Given the description of an element on the screen output the (x, y) to click on. 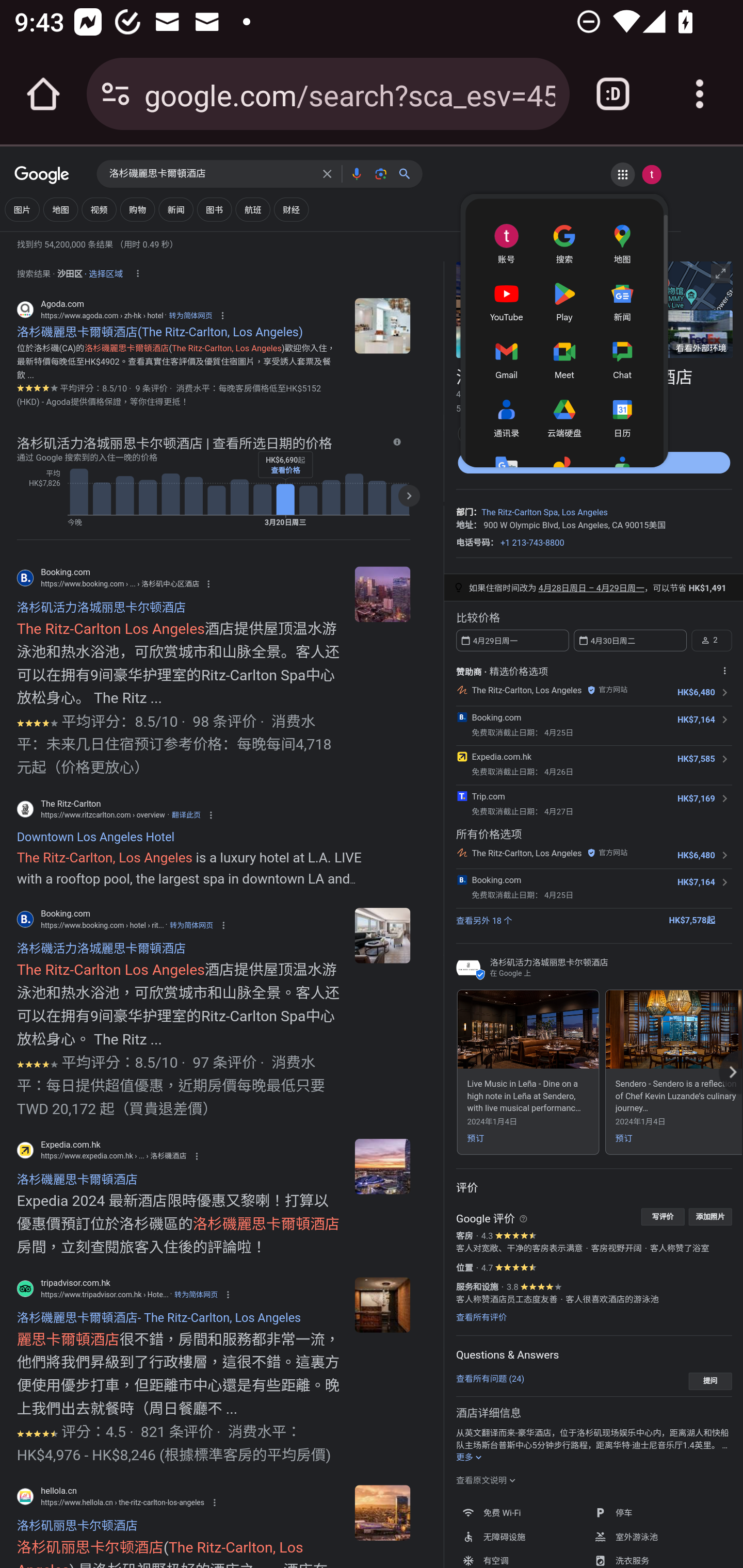
Open the home page (43, 93)
Connection is secure (115, 93)
Switch or close tabs (612, 93)
Customize and control Google Chrome (699, 93)
清除 (326, 172)
按语音搜索 (356, 172)
按图搜索 (380, 172)
搜索 (408, 172)
Google 应用 (622, 174)
Google 账号： test appium (testappium002@gmail.com) (650, 174)
Google (41, 176)
洛杉磯麗思卡爾頓酒店 (210, 173)
图片 (21, 209)
地图 (60, 209)
视频 (98, 209)
购物 (137, 209)
新闻 (175, 209)
图书 (213, 209)
航班 (253, 209)
财经 (291, 209)
账号 (505, 242)
搜索 (563, 242)
地图 (621, 242)
选择区域 (105, 270)
位置信息使用方式 (136, 273)
YouTube (505, 299)
Play (563, 299)
新闻 (621, 299)
los-angeles-ca-us (382, 324)
转为简体网页 (190, 314)
Gmail (505, 358)
Meet (563, 358)
Chat (621, 358)
通讯录 (505, 416)
云端硬盘 (563, 416)
日历 (621, 416)
了解详情 (396, 441)
查询空房情况 (593, 462)
查看价格 (284, 470)
The Ritz-Carlton Spa, Los Angeles (543, 512)
地址 (464, 524)
拨打电话 +1 213-743-8800 (532, 542)
ritz-carlton-los-angeles.zh-cn (382, 594)
4月28日周日 – 4月29日周一 (590, 587)
请选择入住日期。目前的入住日期是 2024-04-29  (511, 639)
请选择退房日期。目前的退房日期是 2024-04-30  (629, 639)
请选择访客人数 (710, 639)
为什么会显示该广告？ (724, 669)
The Ritz-Carlton, Los Angeles (526, 690)
HK$6,480 (695, 691)
Booking.com (496, 716)
HK$7,164 (695, 719)
Expedia.com.hk (501, 756)
HK$7,585 (695, 759)
Trip.com (488, 795)
HK$7,169 (695, 797)
翻译此页 (185, 814)
The Ritz-Carlton, Los Angeles (526, 851)
HK$6,480 (695, 854)
Booking.com (496, 879)
HK$7,164 (695, 881)
ritz-carlton-los-angeles.zh-tw (382, 934)
查看另外 18 个 HK$7,578起 (593, 919)
转为简体网页 (191, 924)
Los-Angeles-Hotels-The-Ritz-Carlton.h3443706 (382, 1166)
写评价 (662, 1216)
添加照片 (709, 1216)
这是什么？ (523, 1218)
转为简体网页 (195, 1293)
查看所有评价 (481, 1317)
查看所有问题 (24) (489, 1378)
提问 (709, 1381)
更多有关“洛杉矶活力洛城丽思卡尔顿酒店”的信息 (469, 1457)
查看原文说明 (486, 1479)
the-ritz-carlton-los-angeles (382, 1512)
